Given the description of an element on the screen output the (x, y) to click on. 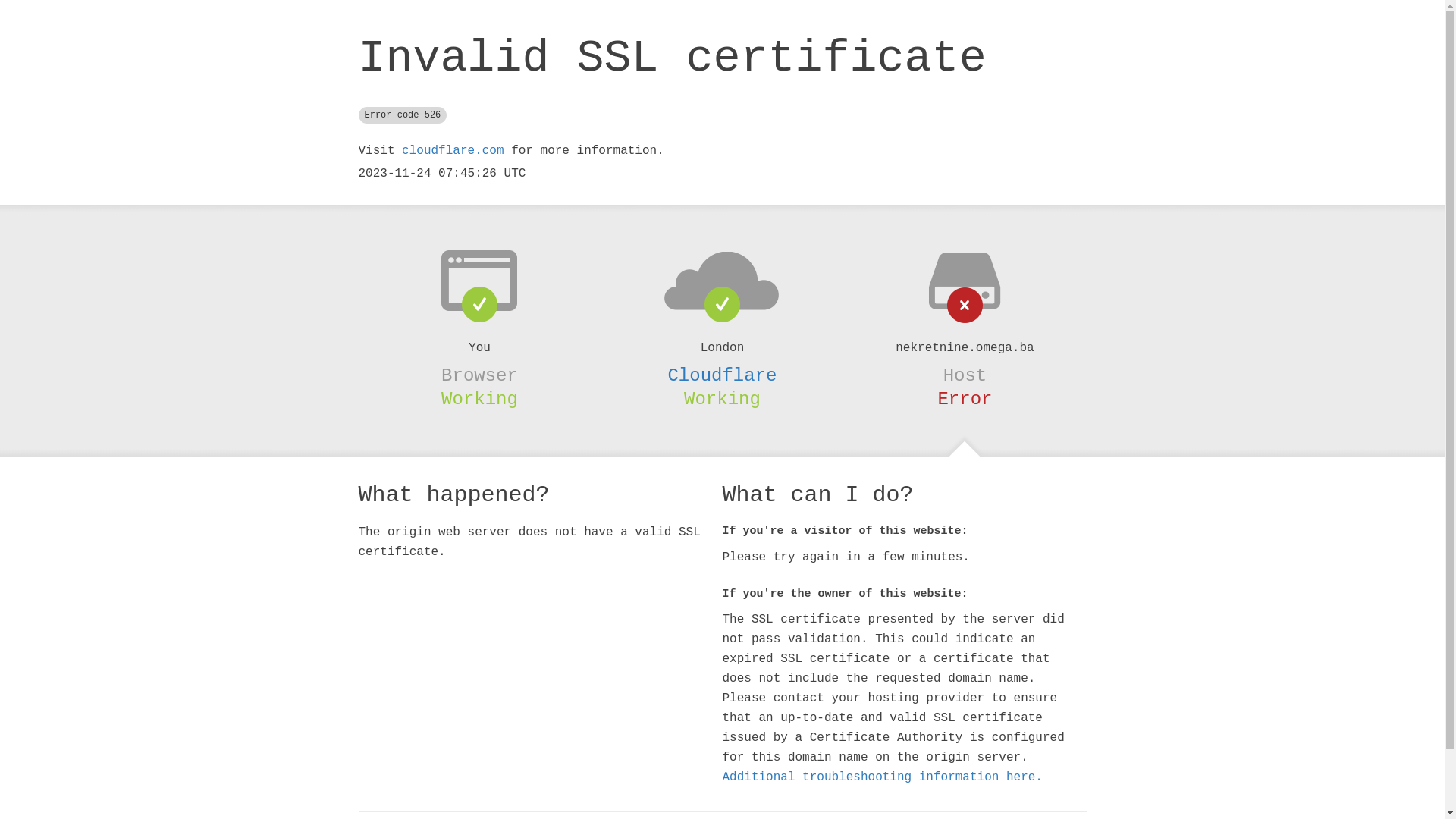
Additional troubleshooting information here. Element type: text (881, 777)
cloudflare.com Element type: text (452, 150)
Cloudflare Element type: text (721, 375)
